Given the description of an element on the screen output the (x, y) to click on. 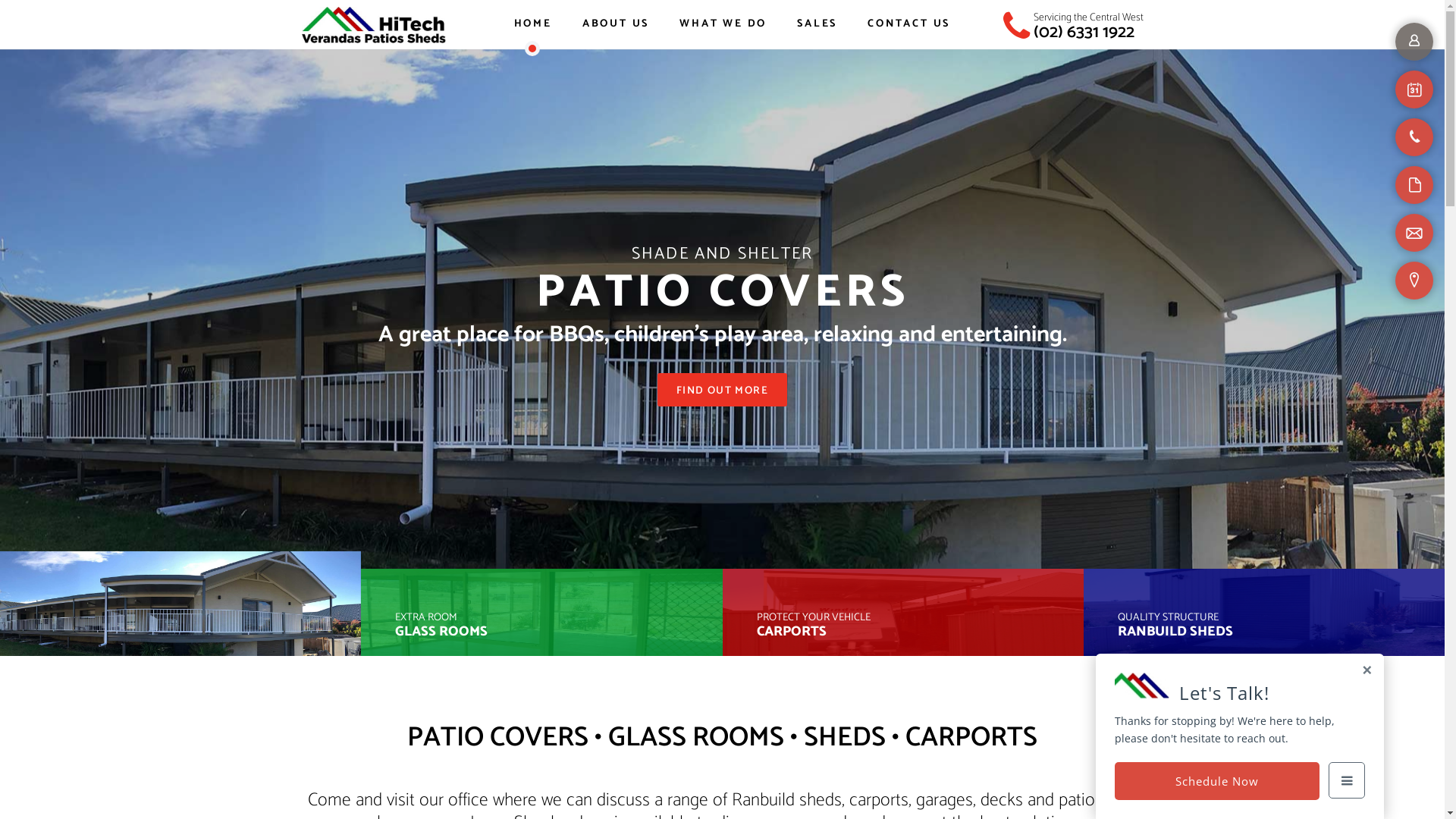
FIND OUT MORE Element type: text (722, 389)
SALES Element type: text (816, 24)
WHAT WE DO Element type: text (722, 24)
HOME Element type: text (532, 24)
Servicing the Central West Element type: text (1087, 17)
Schedule Now Element type: text (1216, 781)
ABOUT US Element type: text (615, 24)
CONTACT US Element type: text (908, 24)
(02) 6331 1922 Element type: text (1082, 32)
